Given the description of an element on the screen output the (x, y) to click on. 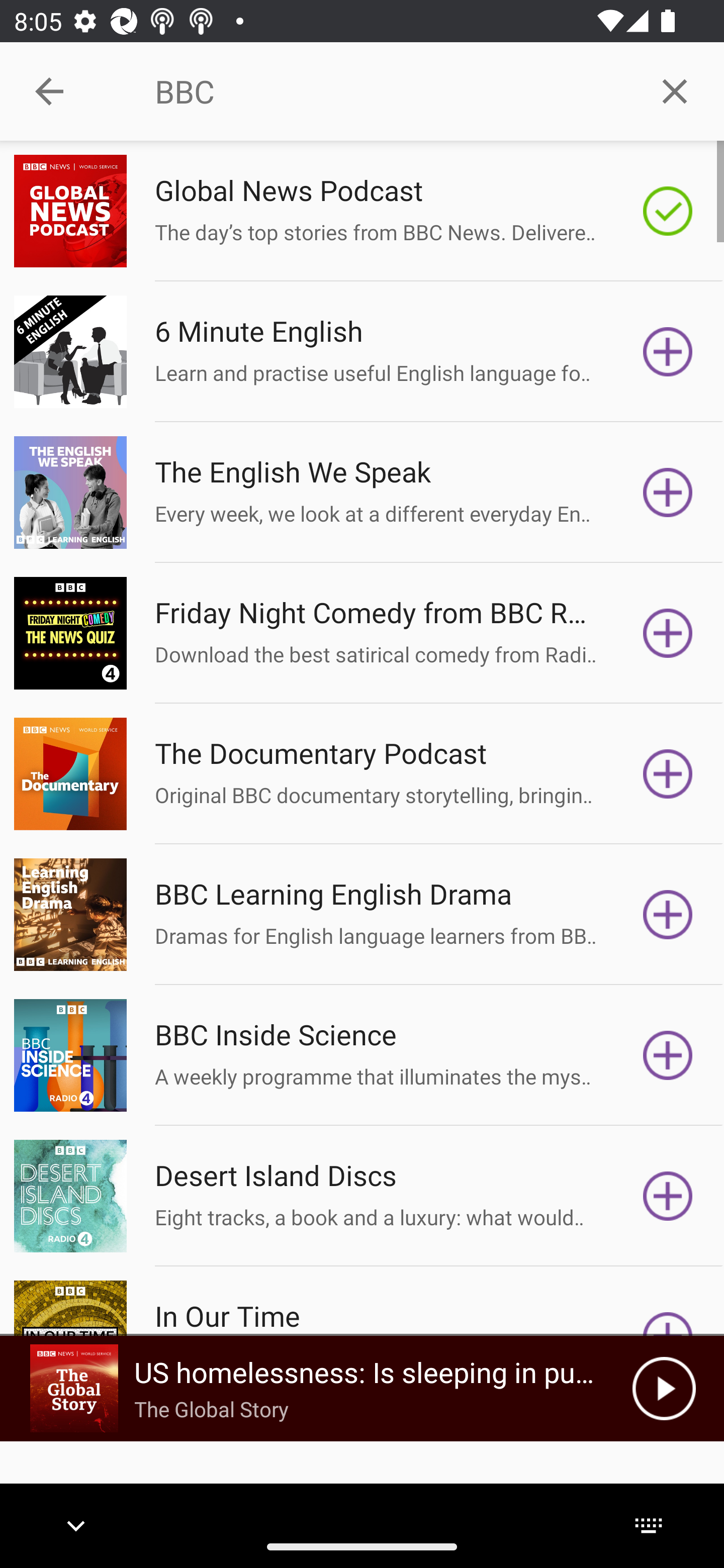
Collapse (49, 91)
Clear query (674, 90)
BBC (389, 91)
Subscribed (667, 211)
Subscribe (667, 350)
Subscribe (667, 491)
Subscribe (667, 633)
Subscribe (667, 773)
Subscribe (667, 913)
Subscribe (667, 1054)
Subscribe (667, 1195)
Play (663, 1388)
